Given the description of an element on the screen output the (x, y) to click on. 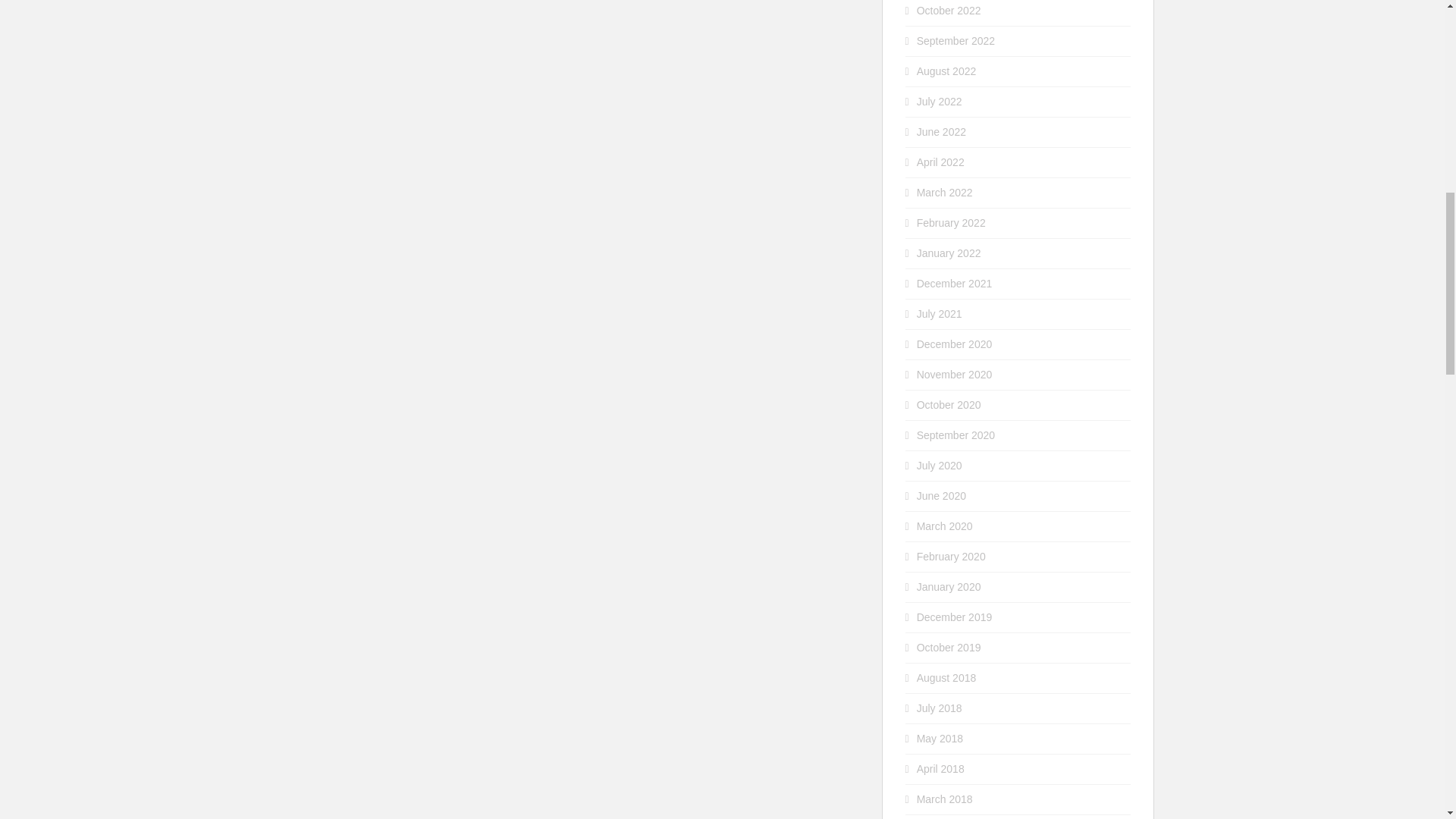
July 2020 (939, 465)
October 2020 (949, 404)
March 2022 (944, 192)
November 2020 (954, 374)
July 2021 (939, 313)
June 2022 (941, 132)
February 2022 (951, 223)
December 2021 (954, 283)
October 2022 (949, 10)
January 2022 (949, 253)
